Given the description of an element on the screen output the (x, y) to click on. 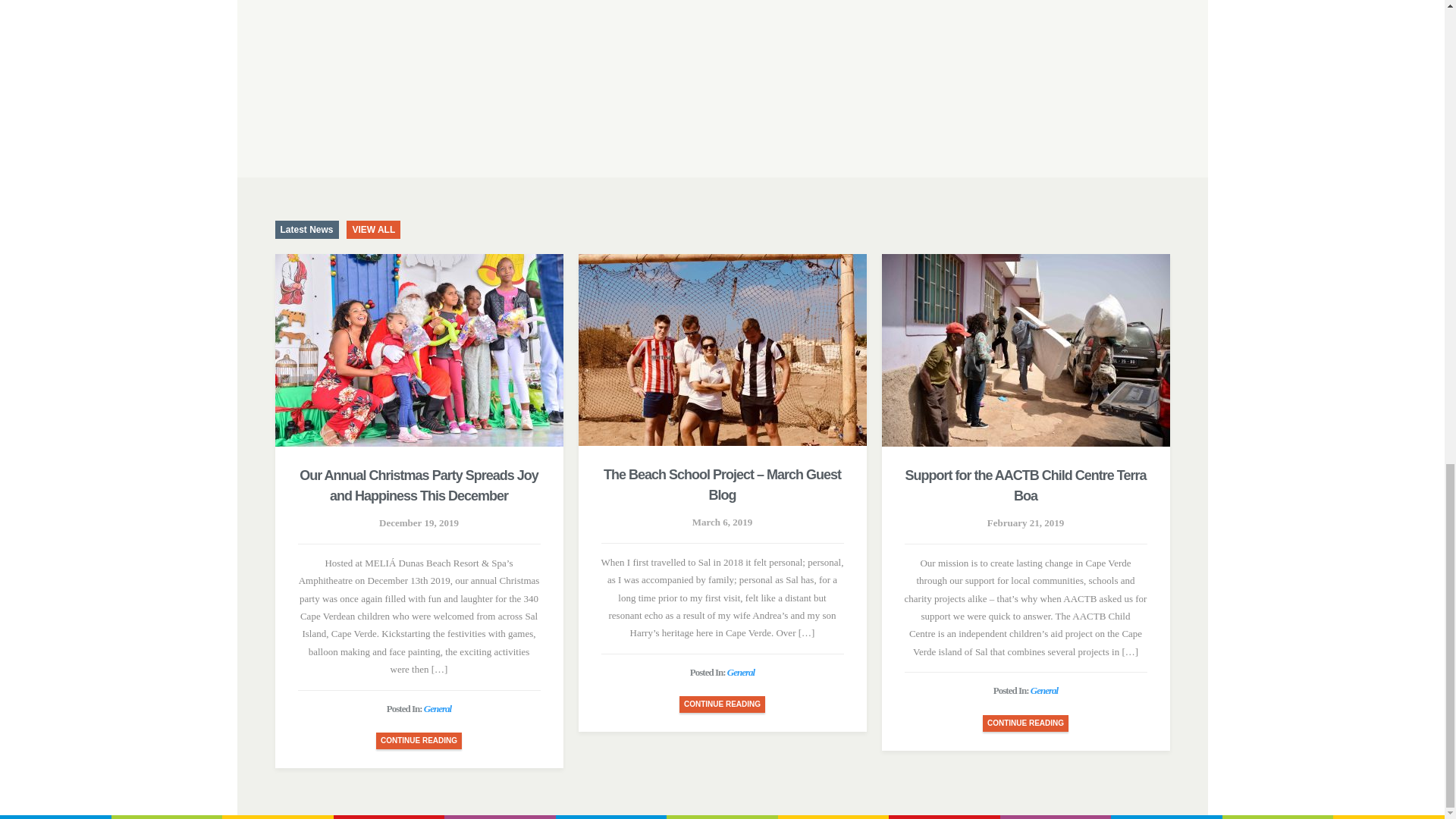
Support for the AACTB Child Centre Terra Boa (1025, 486)
CONTINUE READING (418, 740)
CONTINUE READING (722, 704)
General (437, 708)
General (740, 672)
CONTINUE READING (1025, 723)
General (1044, 690)
VIEW ALL (373, 229)
